Given the description of an element on the screen output the (x, y) to click on. 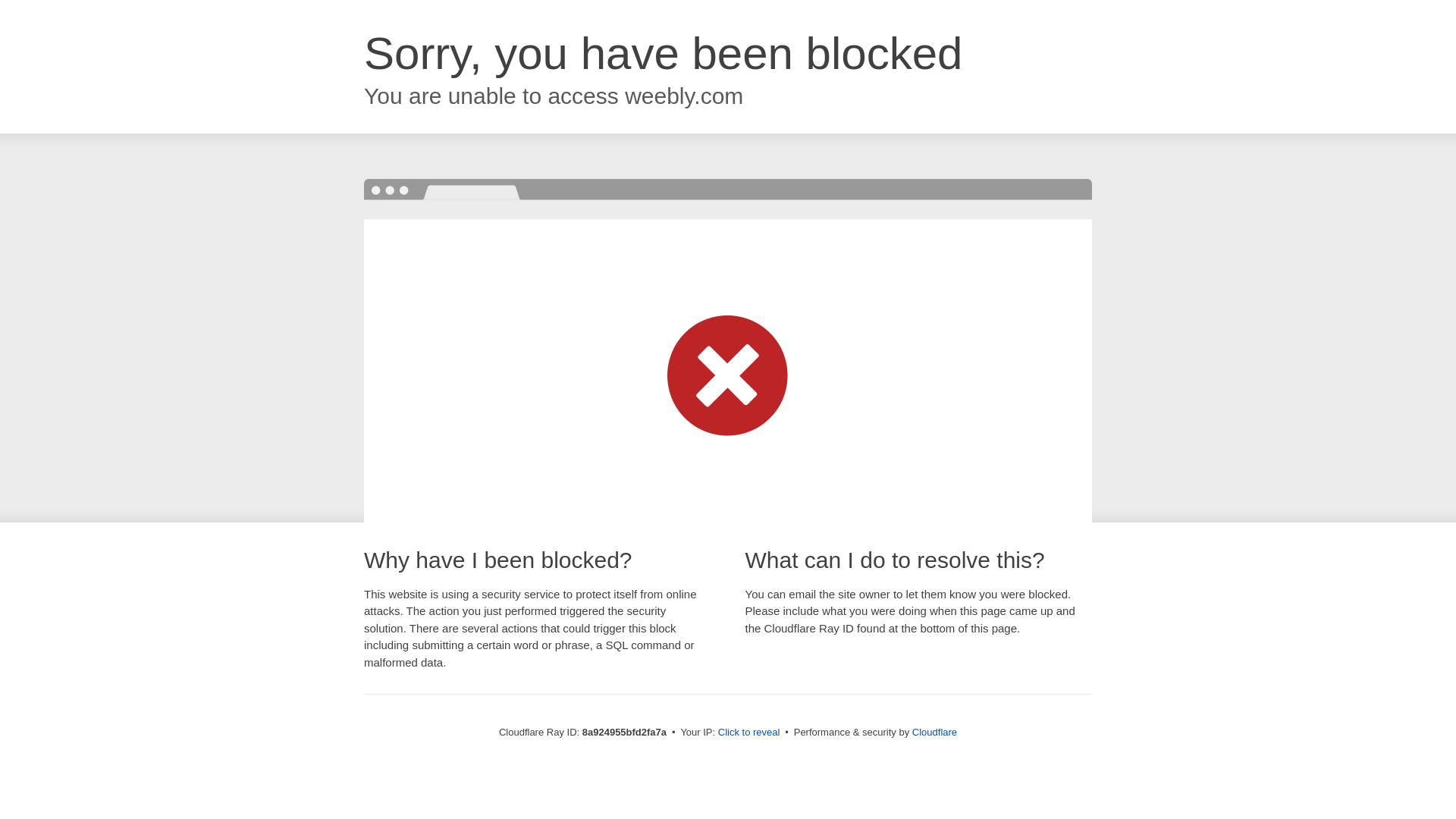
Cloudflare (934, 731)
Click to reveal (748, 732)
